Given the description of an element on the screen output the (x, y) to click on. 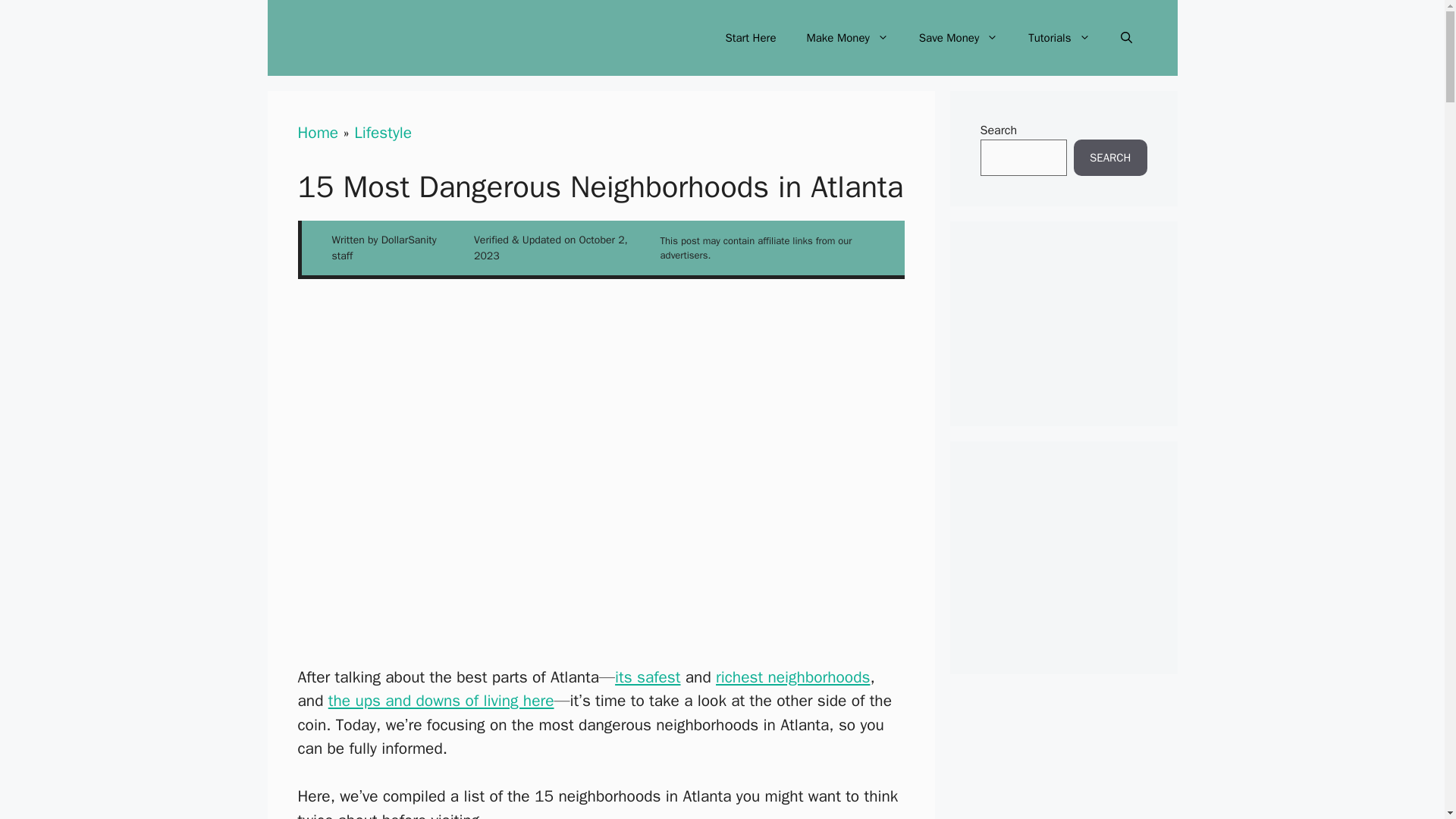
Home (317, 132)
Tutorials (1059, 37)
Start Here (750, 37)
Make Money (846, 37)
Save Money (958, 37)
